Given the description of an element on the screen output the (x, y) to click on. 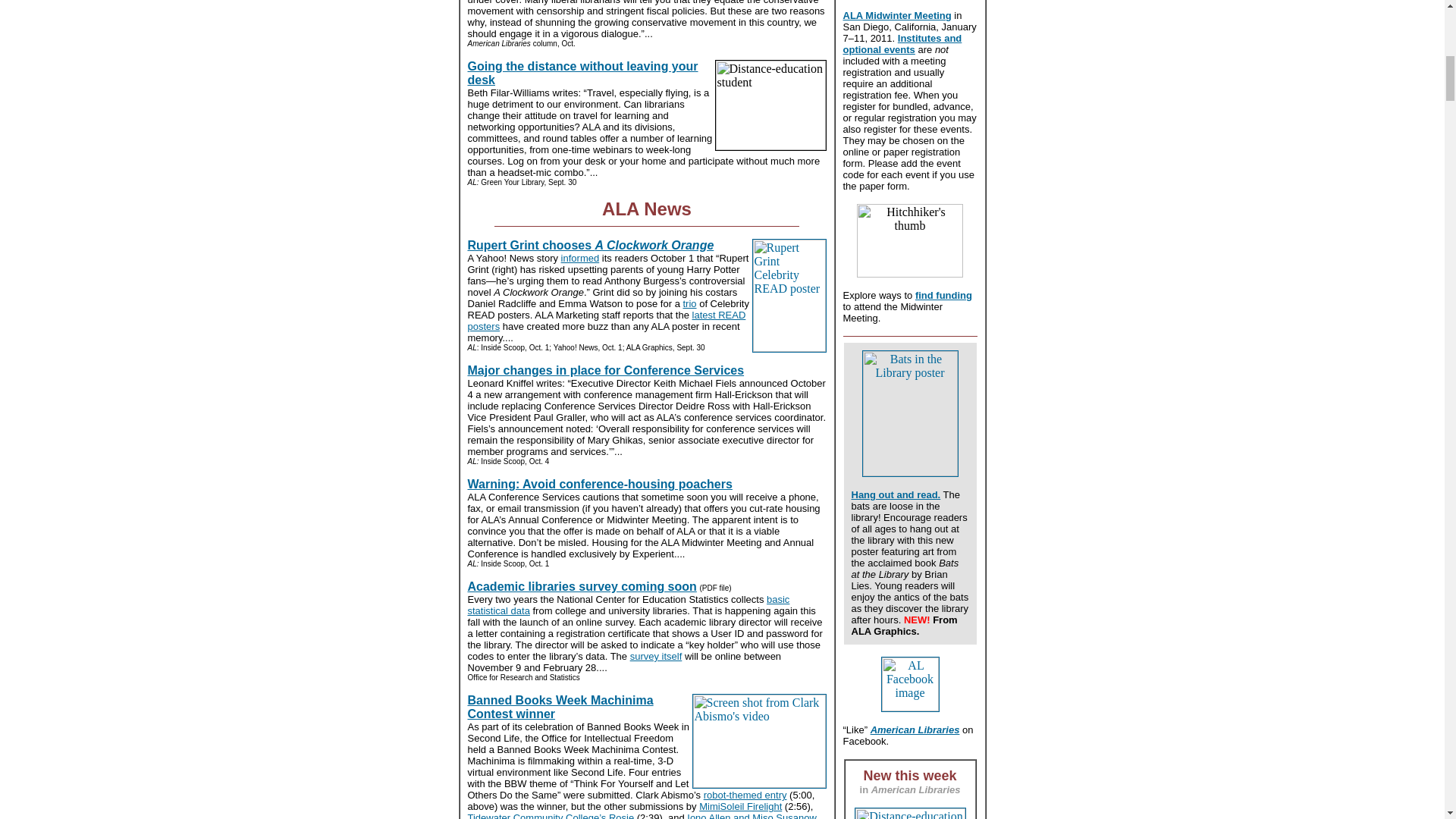
Screen shot from Clark Abismo's video (758, 740)
survey itself (656, 655)
Warning: Avoid conference-housing poachers (599, 483)
MimiSoleil Firelight (739, 806)
Major changes in place for Conference Services (605, 369)
Distance-education student (769, 104)
latest READ posters (606, 320)
Going the distance without leaving your desk (582, 72)
robot-themed entry (745, 794)
Rupert Grint chooses A Clockwork Orange (590, 245)
